Given the description of an element on the screen output the (x, y) to click on. 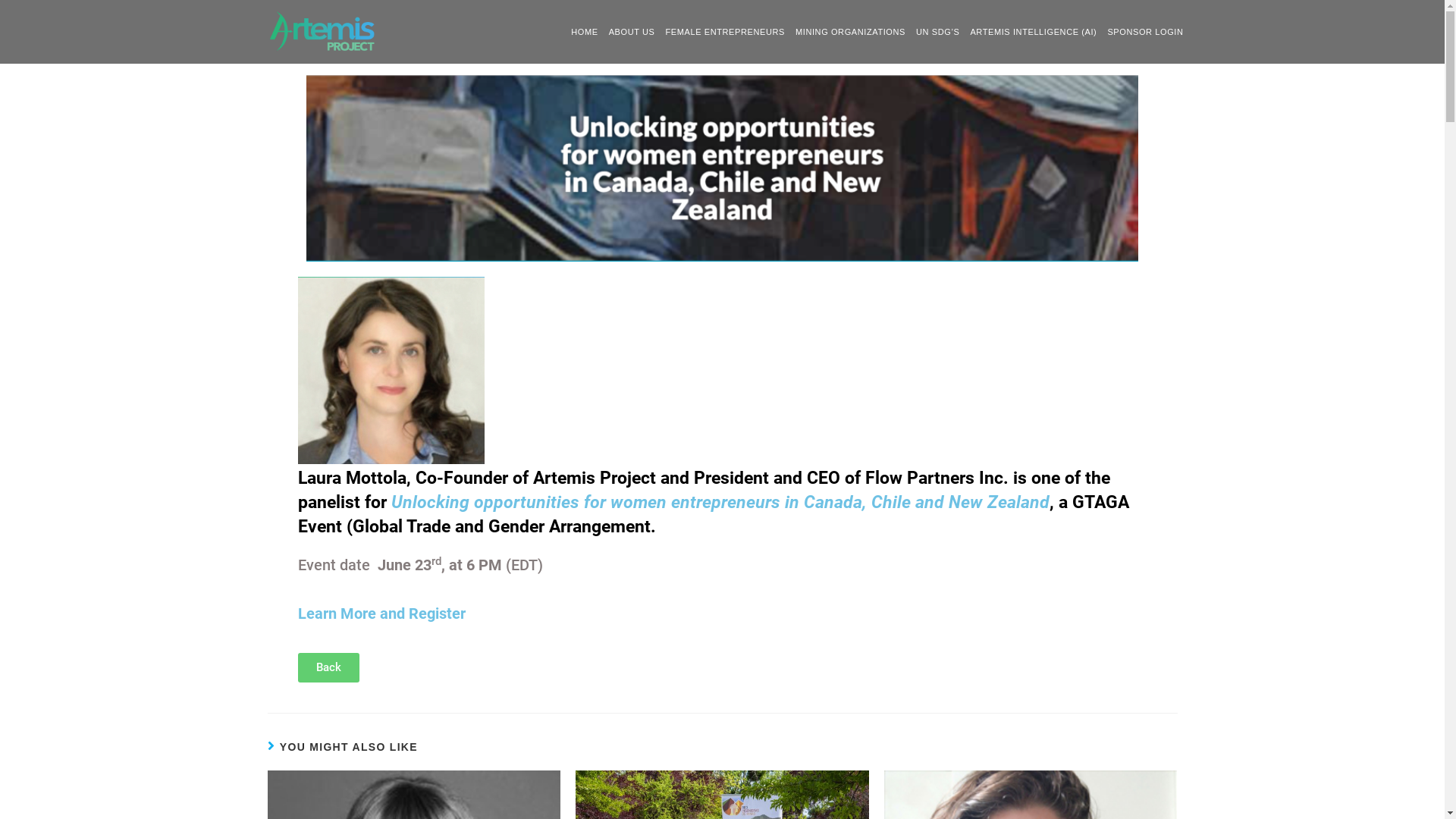
FEMALE ENTREPRENEURS Element type: text (724, 31)
ABOUT US Element type: text (631, 31)
General Element type: text (225, 5)
MINING ORGANIZATIONS Element type: text (850, 31)
ARTEMIS INTELLIGENCE (AI) Element type: text (1032, 31)
SPONSOR LOGIN Element type: text (1144, 31)
shariarzand_z3wp4ryf Element type: text (56, 5)
HOME Element type: text (583, 31)
Back Element type: text (327, 667)
Learn More and Register Element type: text (380, 613)
